Given the description of an element on the screen output the (x, y) to click on. 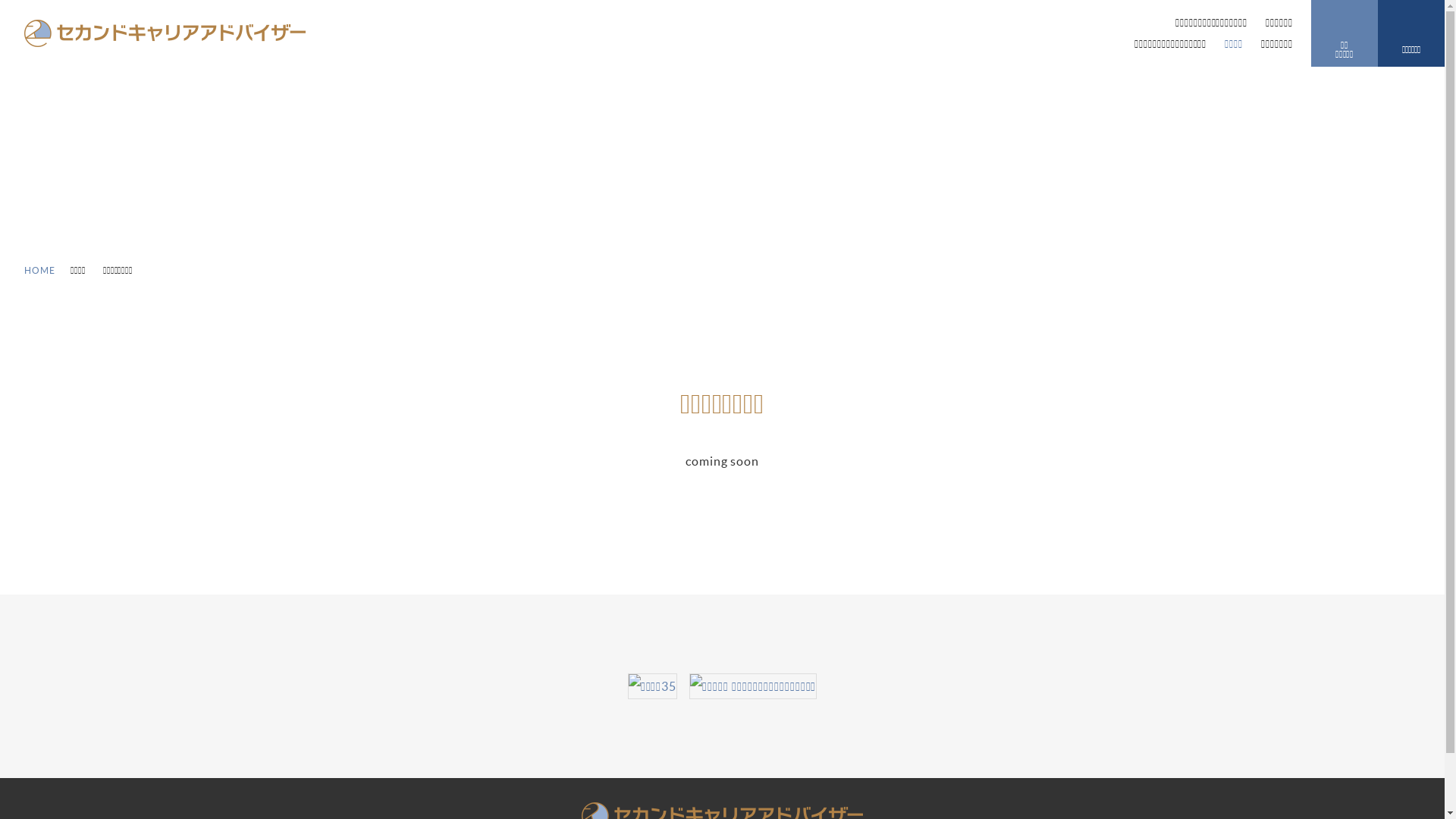
HOME Element type: text (39, 270)
